Given the description of an element on the screen output the (x, y) to click on. 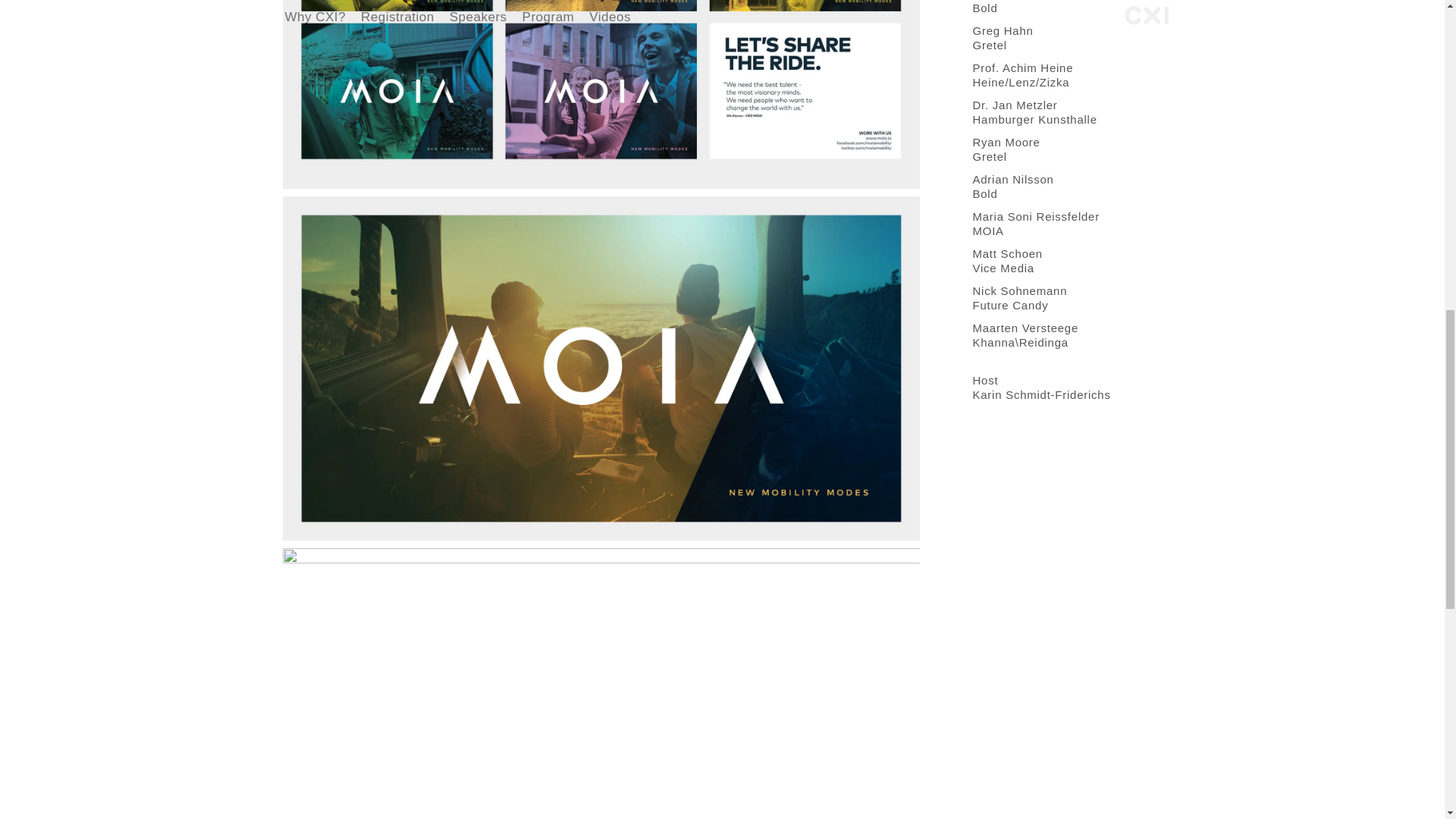
Karin Schmidt-Friderichs (1040, 394)
